Given the description of an element on the screen output the (x, y) to click on. 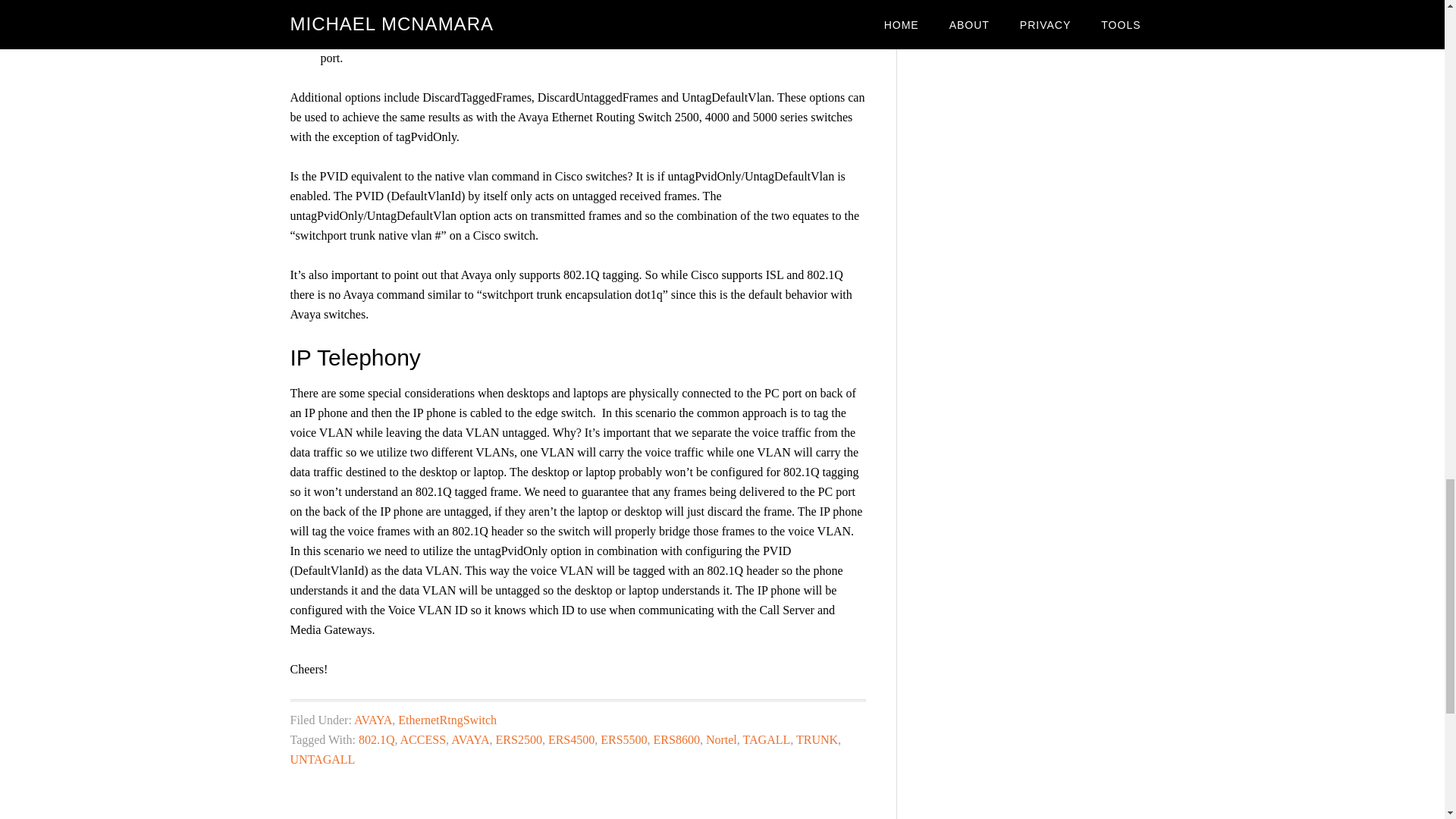
ERS2500 (518, 739)
Nortel (721, 739)
AVAYA (372, 719)
AVAYA (470, 739)
ERS4500 (571, 739)
ERS8600 (676, 739)
ERS5500 (622, 739)
802.1Q (376, 739)
ACCESS (422, 739)
TRUNK (817, 739)
TAGALL (766, 739)
EthernetRtngSwitch (446, 719)
UNTAGALL (322, 758)
